Given the description of an element on the screen output the (x, y) to click on. 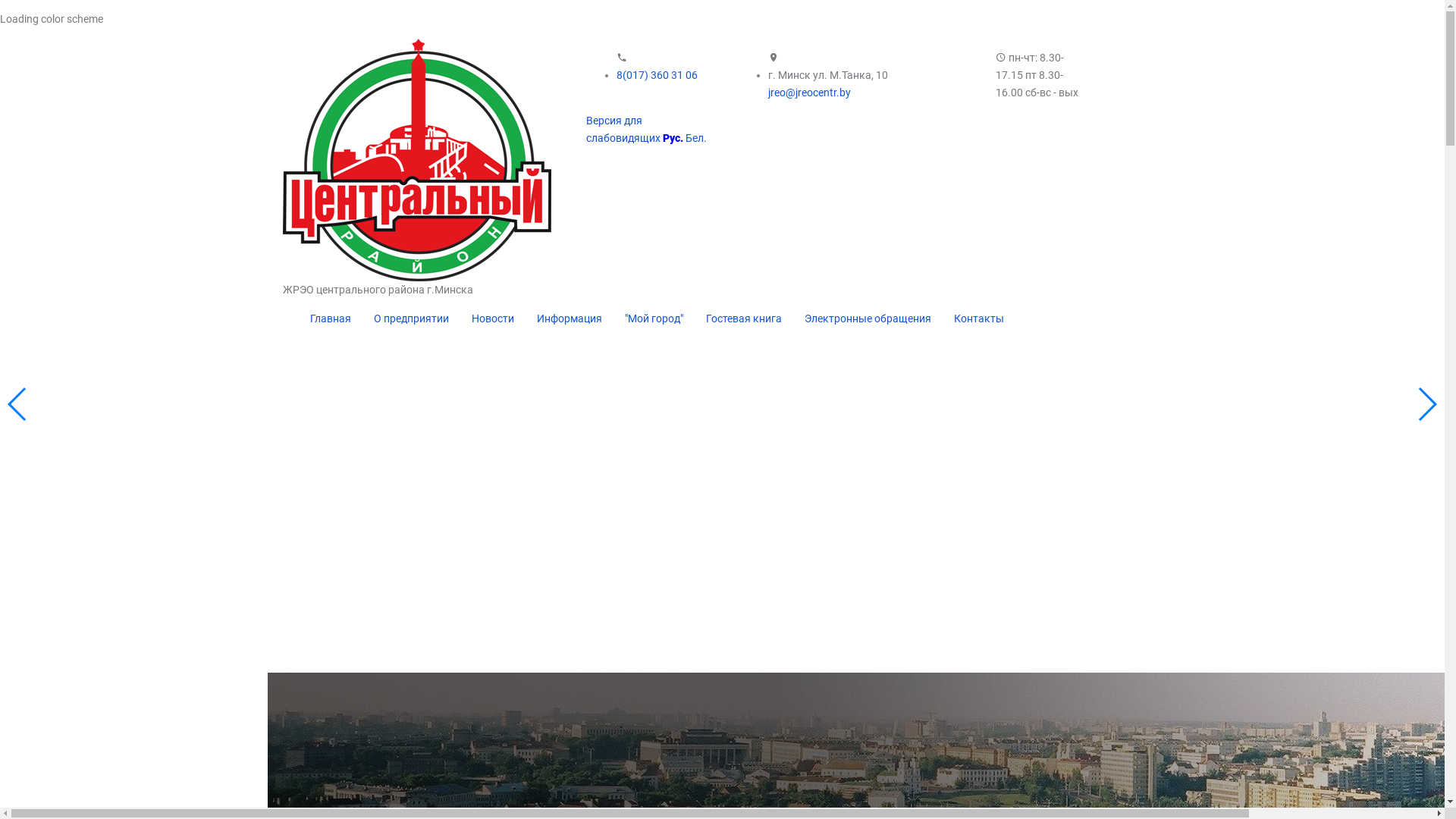
jreo@jreocentr.by Element type: text (808, 92)
8(017) 360 31 06 Element type: text (655, 75)
